Given the description of an element on the screen output the (x, y) to click on. 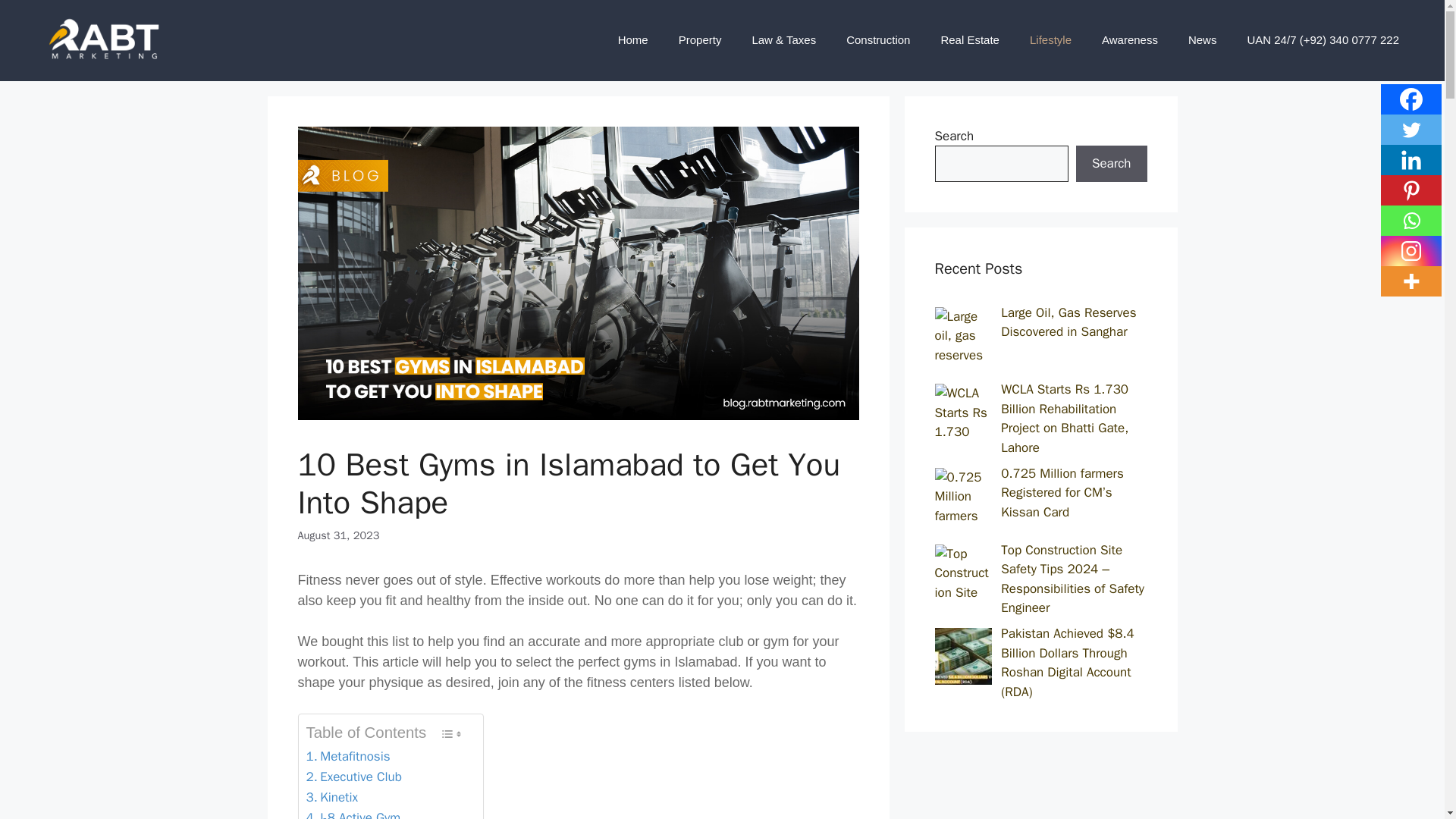
I-8 Active Gym (353, 813)
Construction (877, 40)
Awareness (1129, 40)
Metafitnosis (347, 756)
Kinetix (331, 797)
Executive Club (353, 776)
Lifestyle (1050, 40)
Real Estate (969, 40)
Metafitnosis (347, 756)
News (1202, 40)
